Given the description of an element on the screen output the (x, y) to click on. 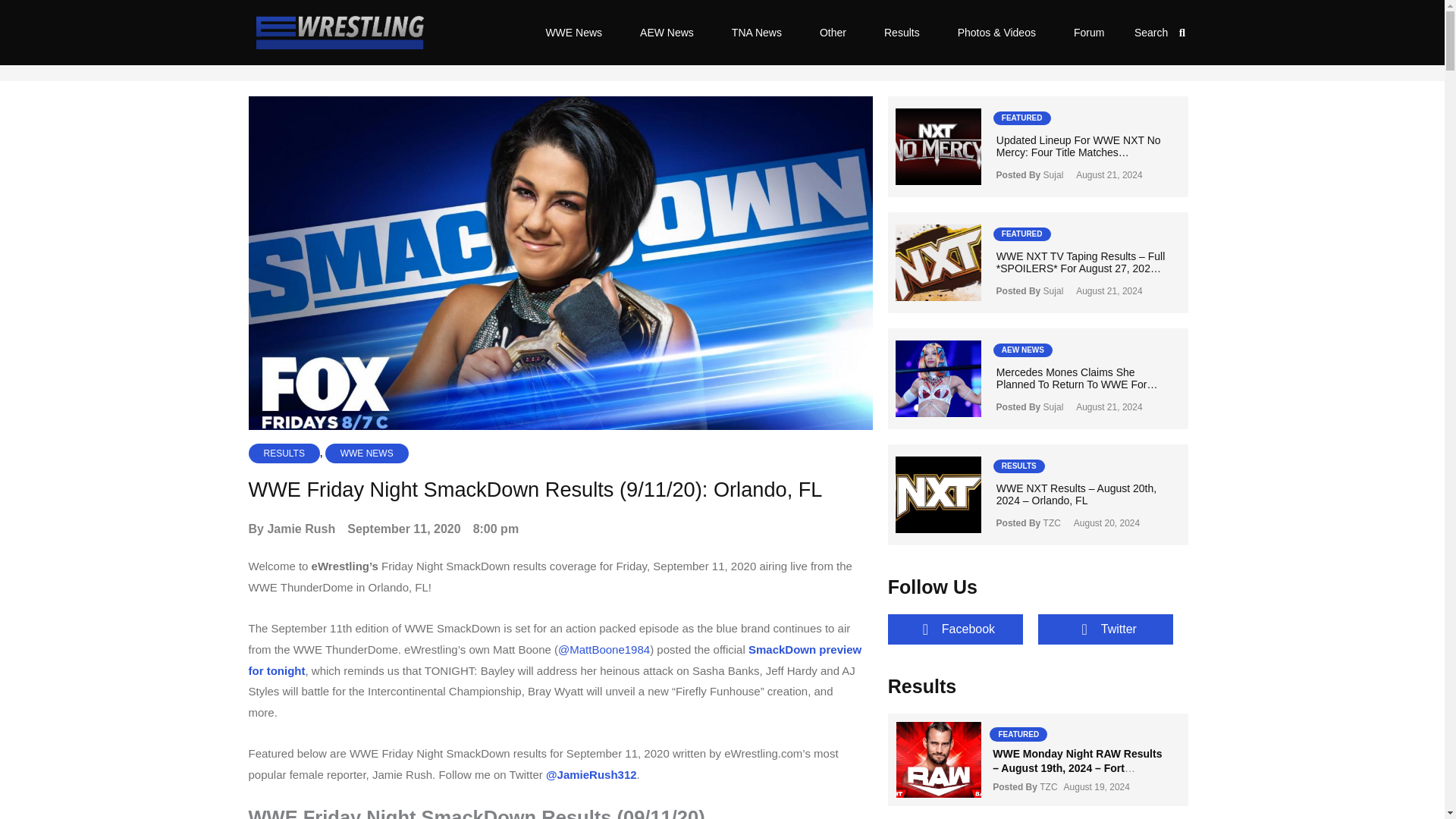
SmackDown preview for tonight (554, 659)
RESULTS (284, 453)
Posts by TZC (1048, 787)
WWE News (573, 32)
TNA News (756, 32)
September 11, 2020 (403, 528)
By Jamie Rush (292, 528)
Other (832, 32)
AEW News (667, 32)
